Given the description of an element on the screen output the (x, y) to click on. 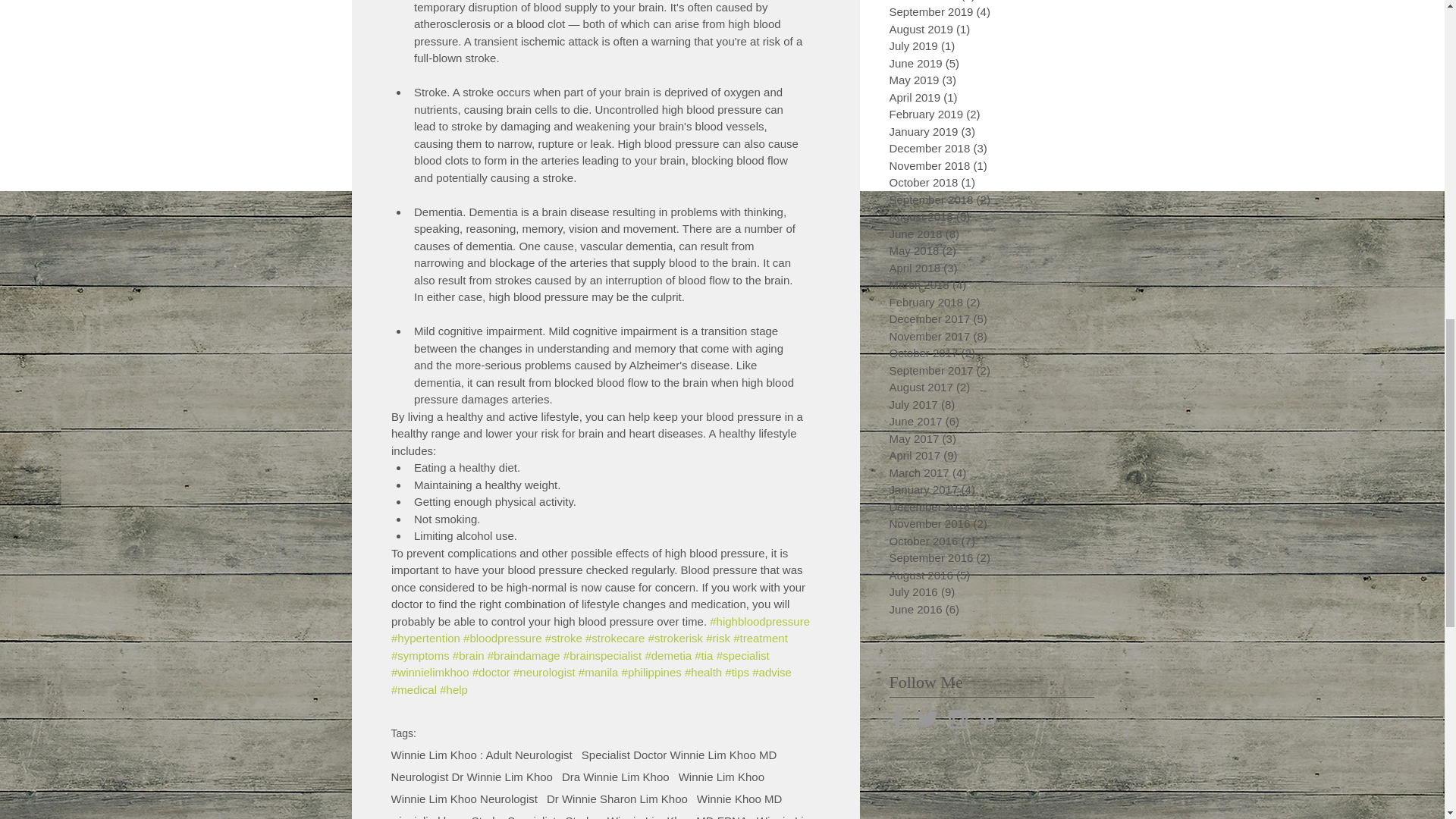
Dra Winnie Lim Khoo (615, 776)
Winnie Lim Khoo : Adult Neurologist (481, 754)
Winnie Lim Khoo (721, 776)
Specialist Doctor Winnie Lim Khoo MD (678, 754)
Neurologist Dr Winnie Lim Khoo (472, 776)
